Given the description of an element on the screen output the (x, y) to click on. 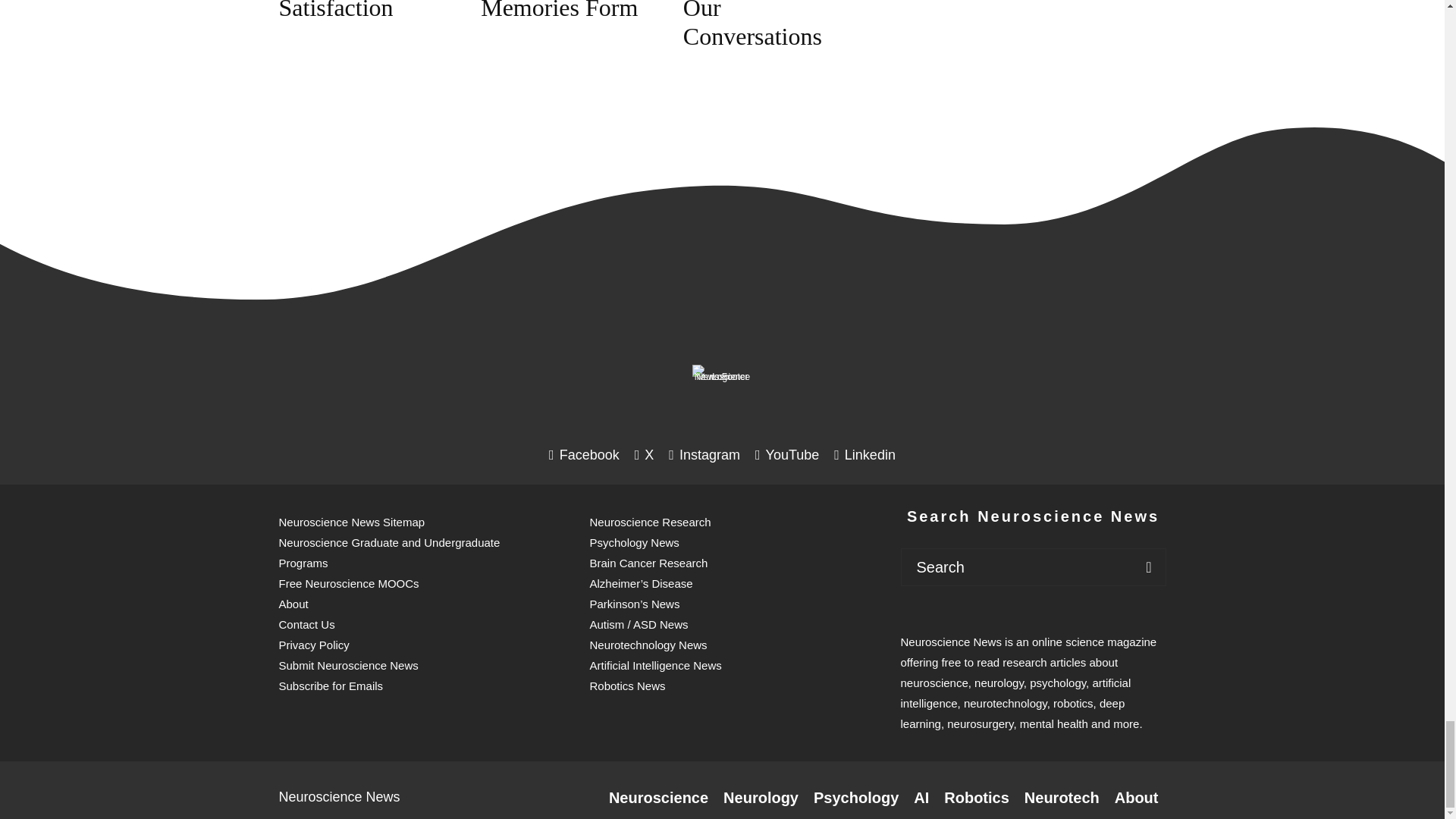
Psychology Research Articles (855, 797)
Neuroscience Research (657, 797)
Neurology Research Articles (760, 797)
